Given the description of an element on the screen output the (x, y) to click on. 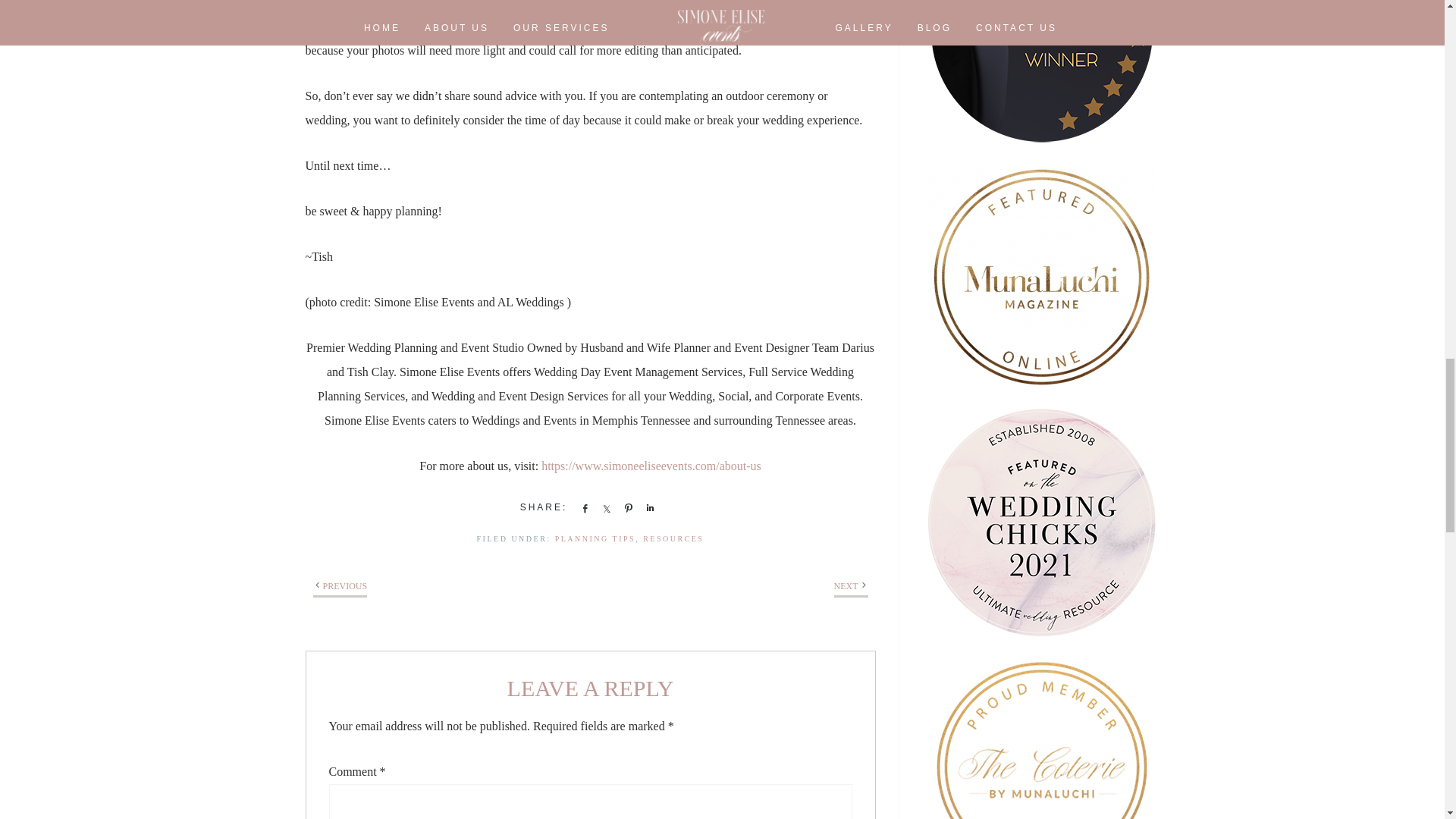
Share (647, 507)
RESOURCES (673, 538)
PREVIOUS (345, 585)
PLANNING TIPS (595, 538)
NEXT (846, 585)
Share (603, 507)
Pin (624, 507)
Share (581, 507)
